Given the description of an element on the screen output the (x, y) to click on. 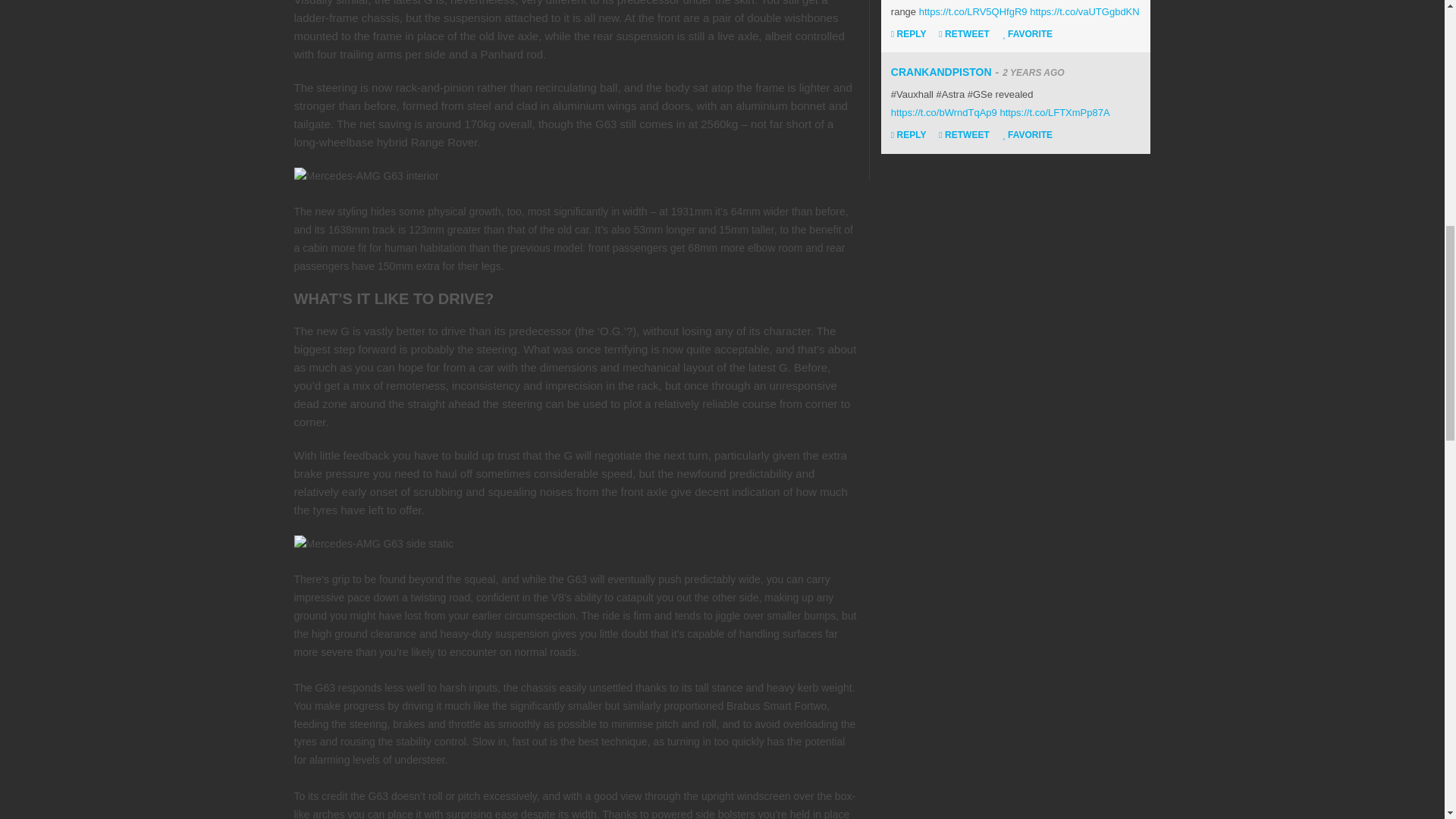
Mercedes-AMG G63 interior (366, 176)
Mercedes-AMG G63 side static (374, 544)
